Given the description of an element on the screen output the (x, y) to click on. 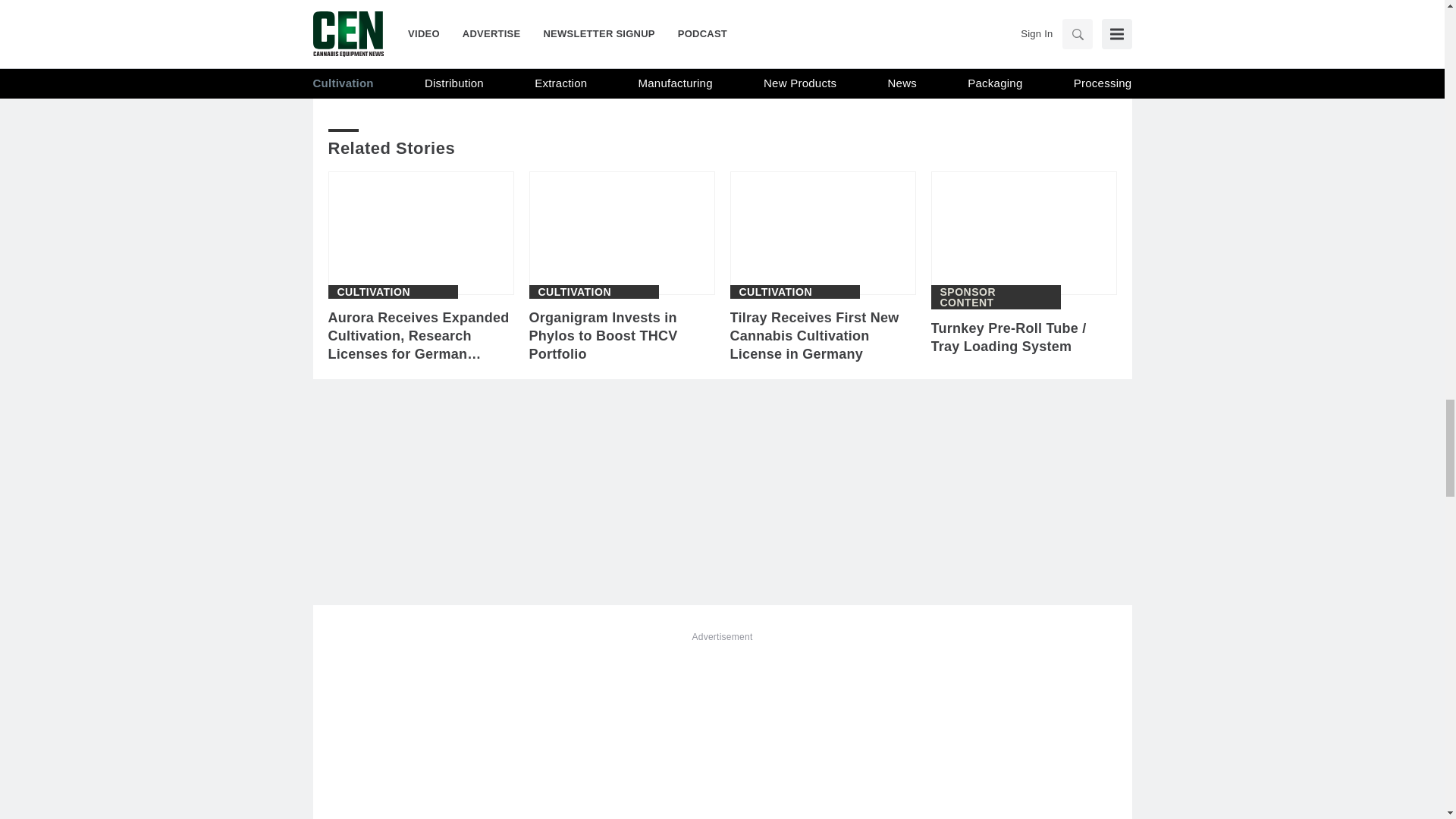
Share To print (342, 61)
Share To facebook (381, 61)
Share To linkedin (421, 61)
Share To twitter (460, 61)
Share To pinterest (499, 61)
